Given the description of an element on the screen output the (x, y) to click on. 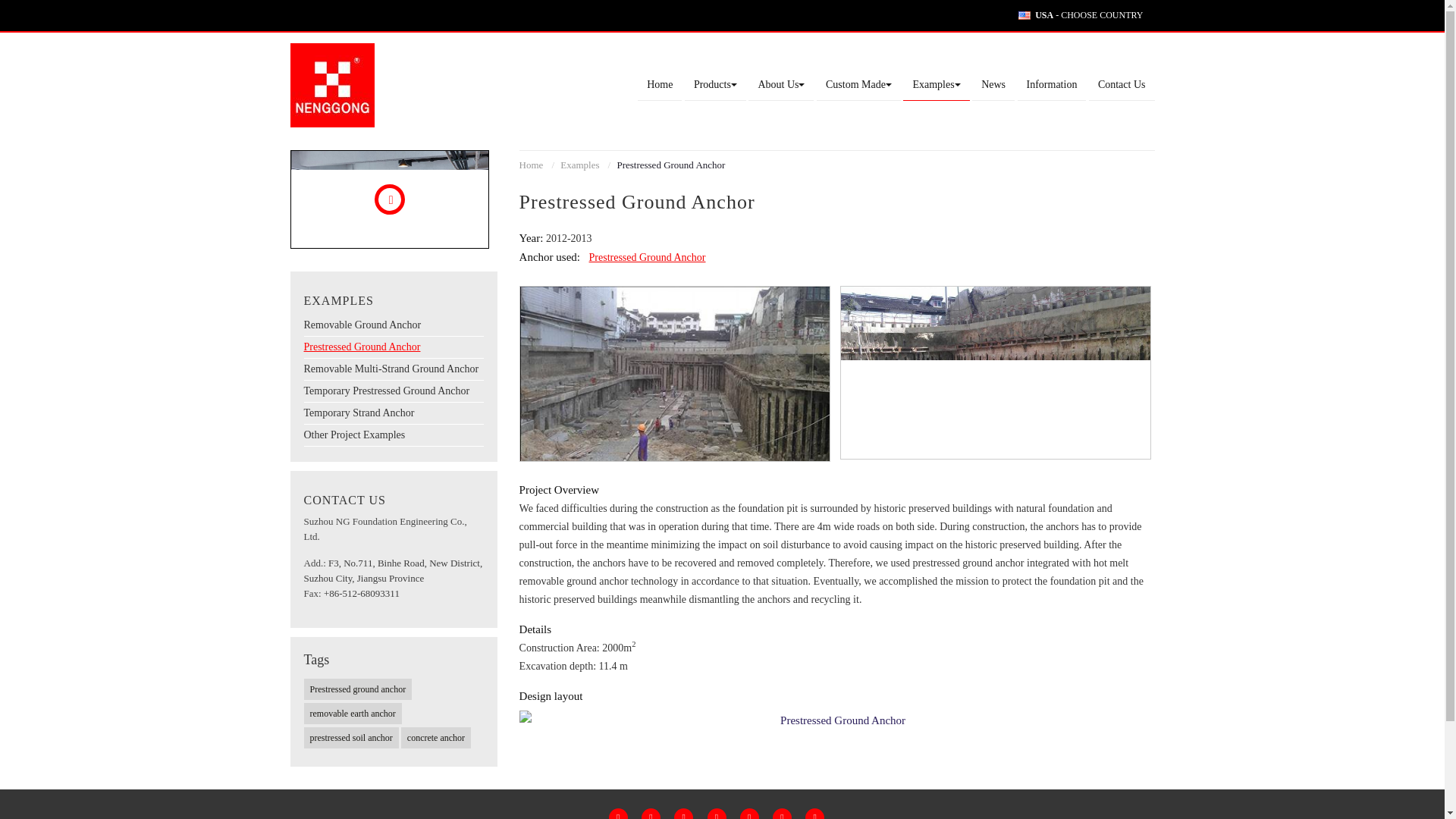
Prestressed Ground Anchor (995, 372)
Examples (582, 164)
Linkedin (715, 813)
Removable Ground Anchor (392, 325)
removable earth anchor (351, 712)
Prestressed Ground Anchor (392, 347)
Temporary Prestressed Ground Anchor (392, 391)
Google Plus (683, 813)
Prestressed Ground Anchor (836, 720)
Custom Made (858, 84)
